Given the description of an element on the screen output the (x, y) to click on. 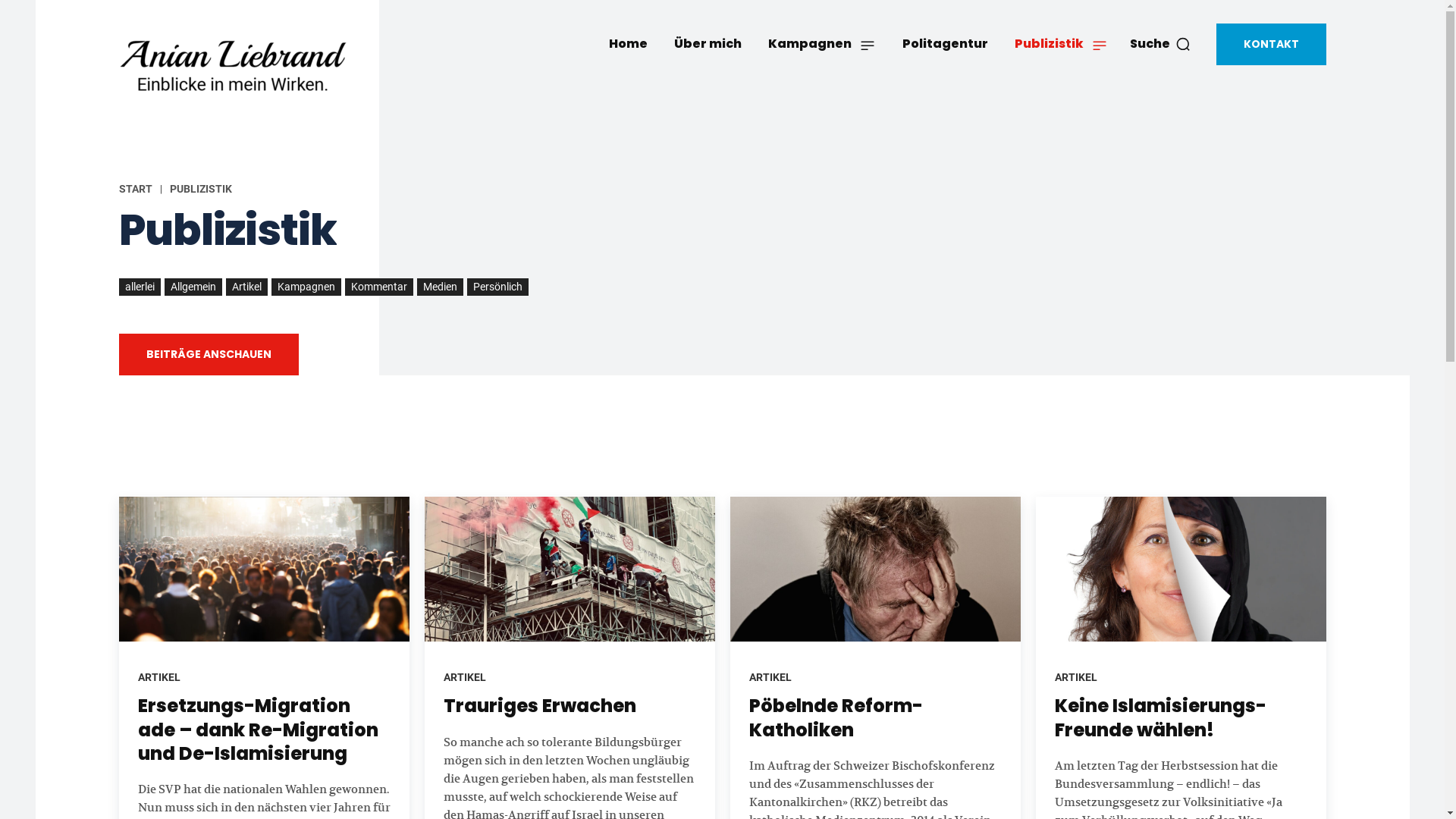
Einblicke in mein Wirken Element type: hover (255, 65)
Medien Element type: text (440, 286)
START Element type: text (134, 188)
ARTIKEL Element type: text (1075, 676)
Home Element type: text (628, 43)
Artikel Element type: text (246, 286)
Trauriges Erwachen Element type: text (538, 705)
Kampagnen Element type: text (821, 43)
KONTAKT Element type: text (1271, 44)
ARTIKEL Element type: text (463, 676)
allerlei Element type: text (139, 286)
Suche Element type: text (1160, 43)
ARTIKEL Element type: text (159, 676)
Allgemein Element type: text (192, 286)
Kampagnen Element type: text (306, 286)
Politagentur Element type: text (944, 43)
Einblicke in mein Wirken Element type: hover (231, 65)
Publizistik Element type: text (1060, 43)
Trauriges Erwachen Element type: hover (569, 569)
ARTIKEL Element type: text (770, 676)
Kommentar Element type: text (378, 286)
